Given the description of an element on the screen output the (x, y) to click on. 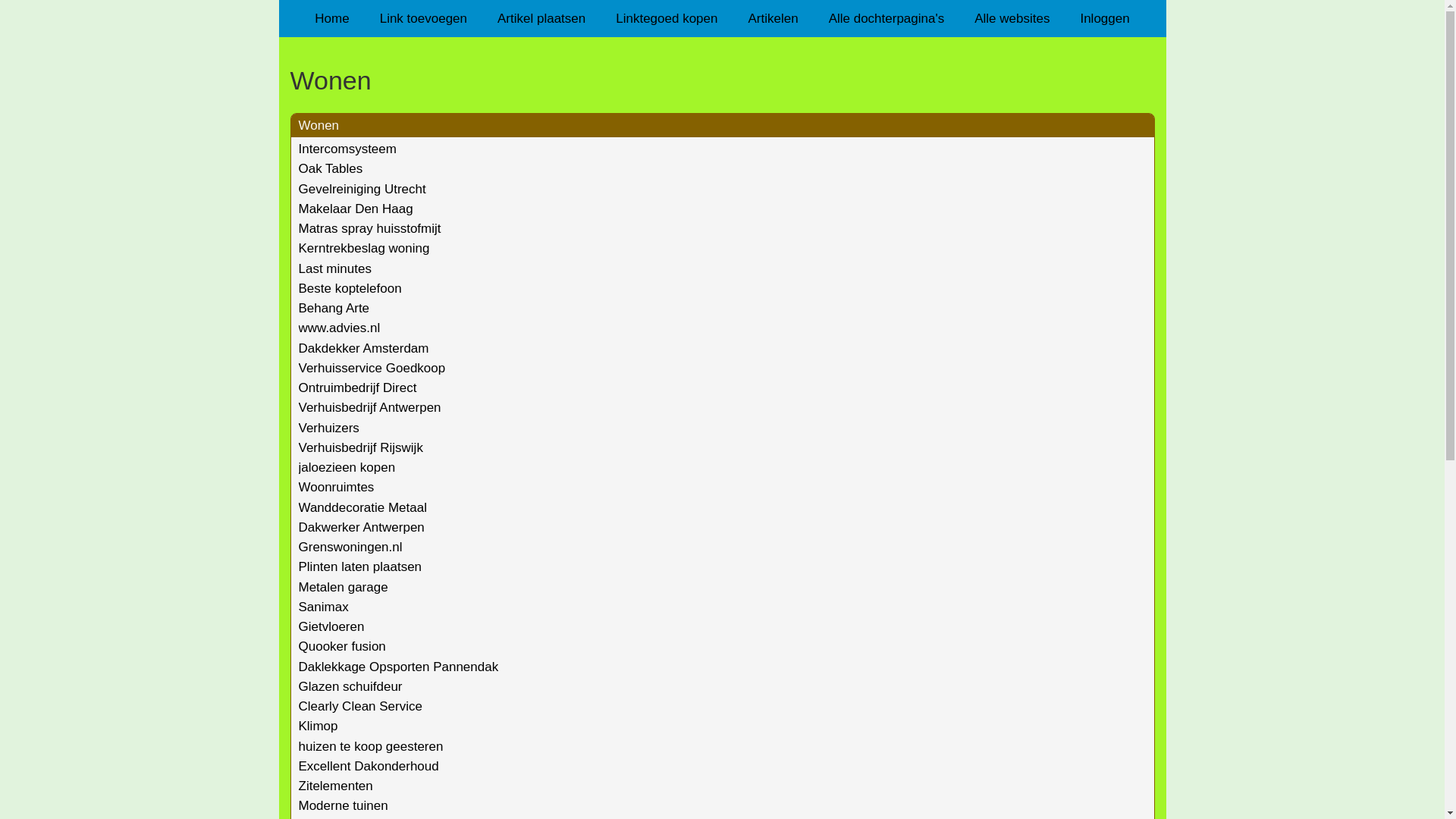
Kerntrekbeslag woning Element type: text (363, 248)
Alle websites Element type: text (1011, 18)
Clearly Clean Service Element type: text (360, 706)
Home Element type: text (331, 18)
Gevelreiniging Utrecht Element type: text (362, 189)
Plinten laten plaatsen Element type: text (360, 566)
Excellent Dakonderhoud Element type: text (368, 766)
Woonruimtes Element type: text (336, 487)
Daklekkage Opsporten Pannendak Element type: text (398, 666)
Verhuisbedrijf Antwerpen Element type: text (369, 407)
Alle dochterpagina's Element type: text (886, 18)
Dakdekker Amsterdam Element type: text (363, 348)
Artikelen Element type: text (772, 18)
Moderne tuinen Element type: text (343, 805)
Verhuisbedrijf Rijswijk Element type: text (360, 447)
huizen te koop geesteren Element type: text (370, 746)
Quooker fusion Element type: text (341, 646)
Grenswoningen.nl Element type: text (350, 546)
Behang Arte Element type: text (334, 308)
jaloezieen kopen Element type: text (346, 467)
Last minutes Element type: text (334, 268)
Matras spray huisstofmijt Element type: text (369, 228)
Artikel plaatsen Element type: text (541, 18)
Inloggen Element type: text (1104, 18)
Glazen schuifdeur Element type: text (350, 686)
Intercomsysteem Element type: text (347, 148)
Zitelementen Element type: text (335, 785)
Klimop Element type: text (318, 725)
Makelaar Den Haag Element type: text (355, 208)
Oak Tables Element type: text (330, 168)
Wanddecoratie Metaal Element type: text (362, 507)
Linktegoed kopen Element type: text (666, 18)
Sanimax Element type: text (323, 606)
Ontruimbedrijf Direct Element type: text (357, 387)
Wonen Element type: text (318, 125)
www.advies.nl Element type: text (339, 327)
Dakwerker Antwerpen Element type: text (361, 527)
Verhuisservice Goedkoop Element type: text (371, 367)
Wonen Element type: text (721, 80)
Beste koptelefoon Element type: text (349, 288)
Metalen garage Element type: text (343, 587)
Gietvloeren Element type: text (331, 626)
Link toevoegen Element type: text (423, 18)
Verhuizers Element type: text (328, 427)
